Given the description of an element on the screen output the (x, y) to click on. 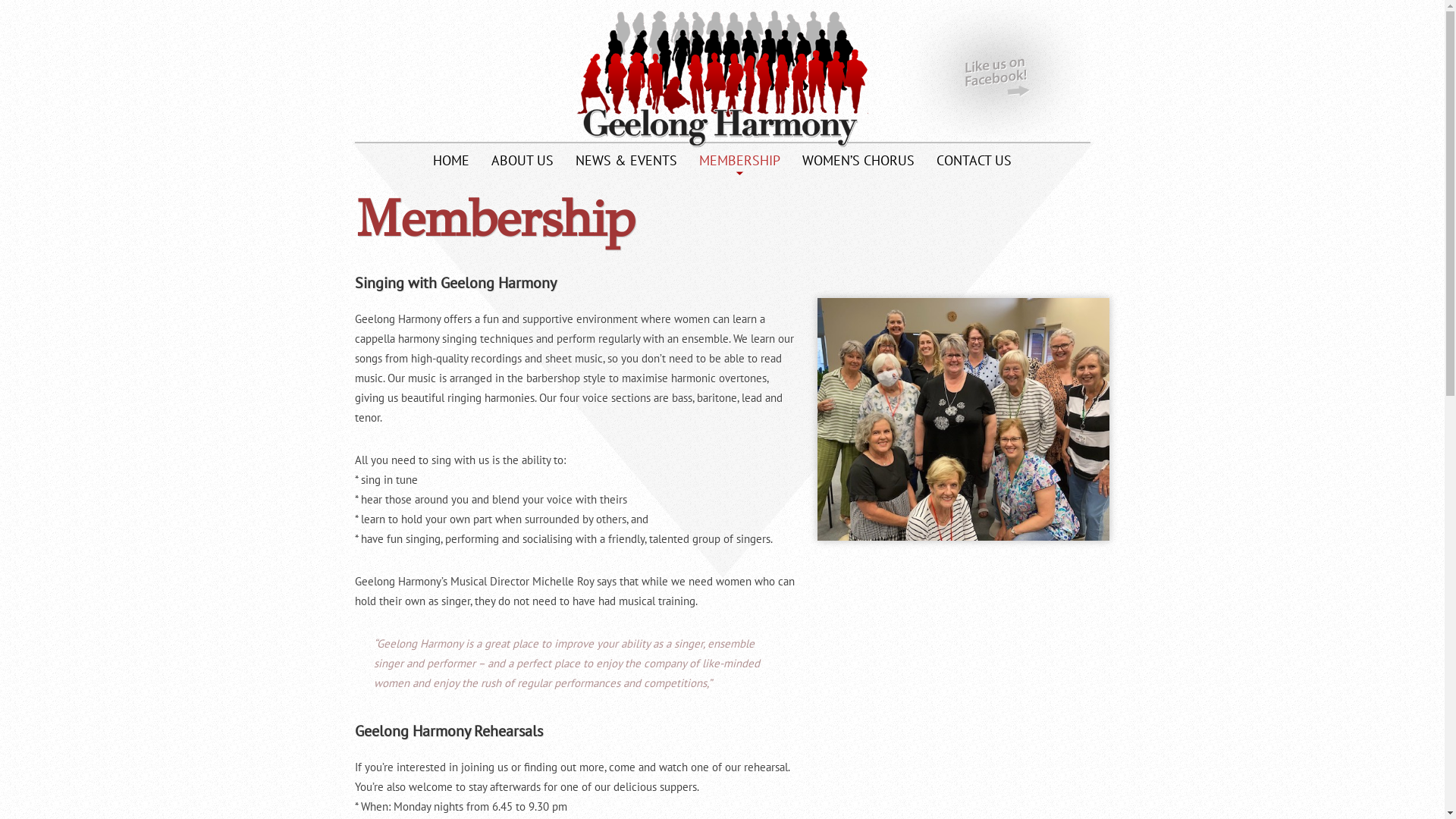
NEWS & EVENTS Element type: text (626, 163)
CONTACT US Element type: text (973, 163)
MEMBERSHIP Element type: text (739, 163)
Geelong Harmony Element type: text (721, 74)
HOME Element type: text (451, 163)
ABOUT US Element type: text (522, 163)
